Given the description of an element on the screen output the (x, y) to click on. 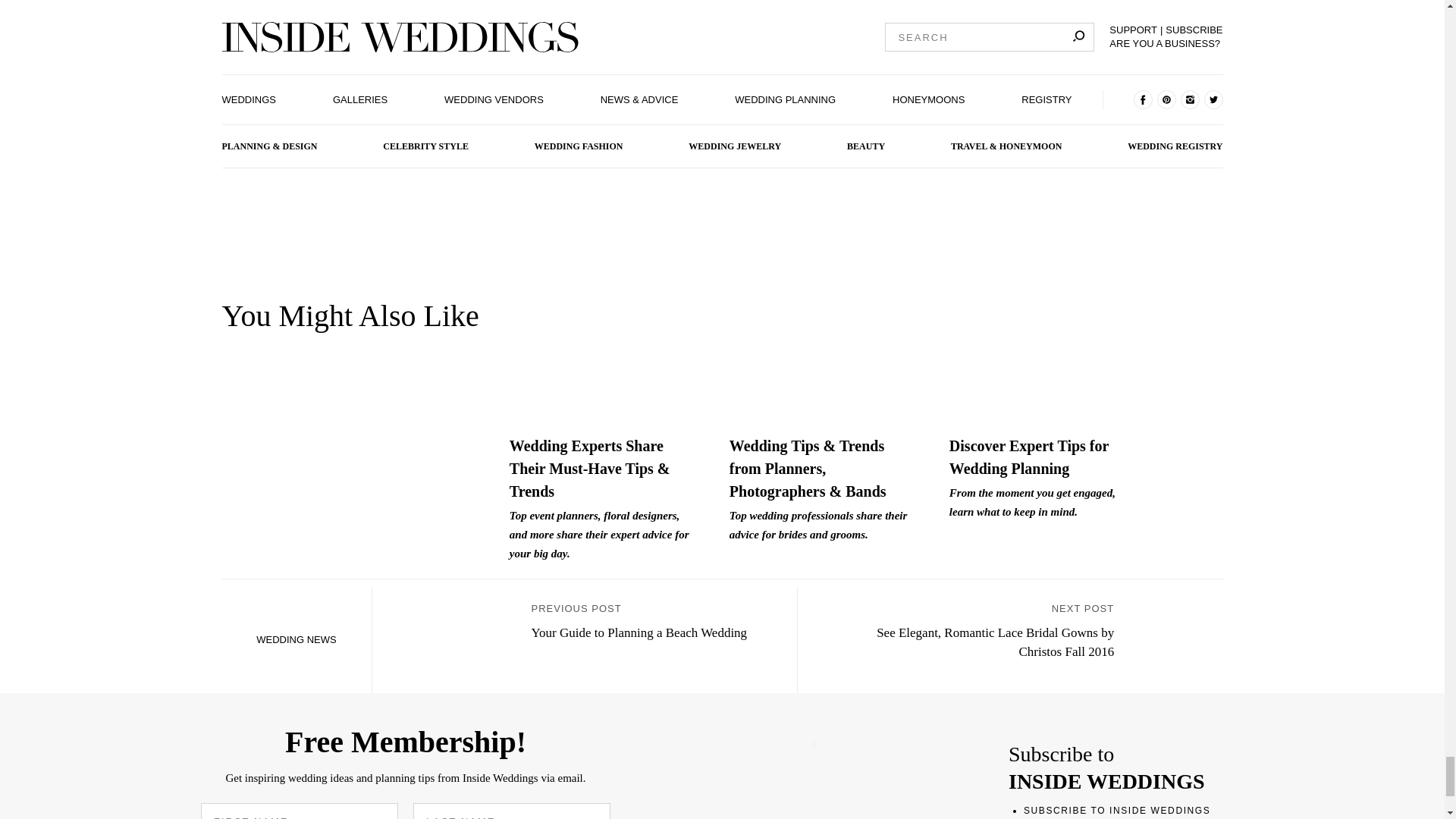
Key West Beach Ceremony (458, 639)
Christos Fall 2016 Collection (1176, 639)
Gorgeous Outdoor Reception Space (823, 362)
Bride Looking at Ceremony Decor (603, 362)
First Steps of Planning (1043, 362)
